Given the description of an element on the screen output the (x, y) to click on. 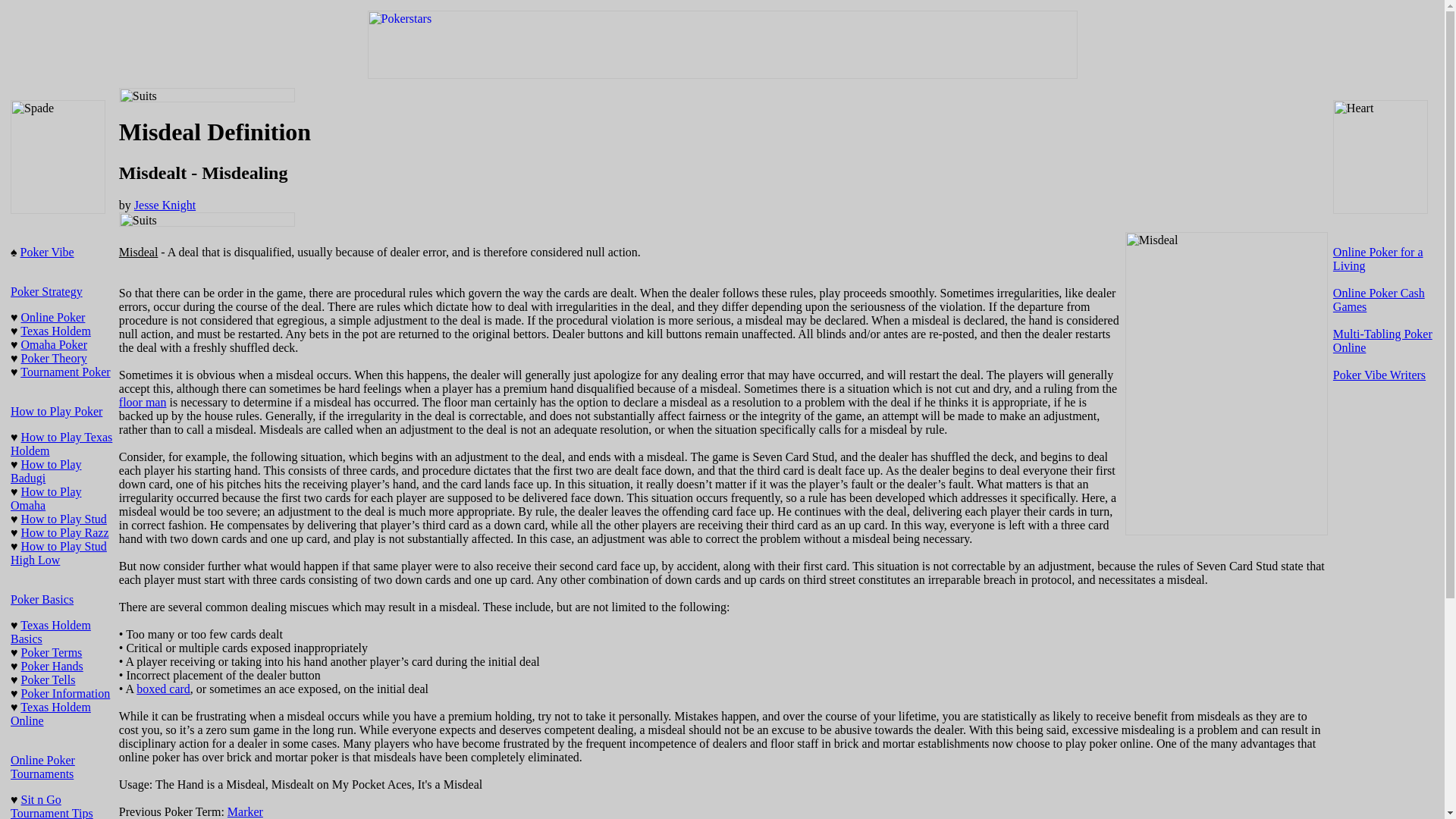
Texas Holdem Basics (50, 632)
Tournament Poker (65, 371)
boxed card (163, 688)
floor man (143, 401)
Online Poker (53, 317)
Sit n Go Tournament Tips (51, 806)
Texas Holdem (55, 330)
Online Poker for a Living (1378, 258)
How to Play Omaha (45, 498)
Poker Terms (51, 652)
Poker Strategy (46, 291)
How to Play Badugi (45, 470)
How to Play Stud (63, 518)
Poker Theory (54, 358)
Online Poker Tournaments (42, 766)
